Given the description of an element on the screen output the (x, y) to click on. 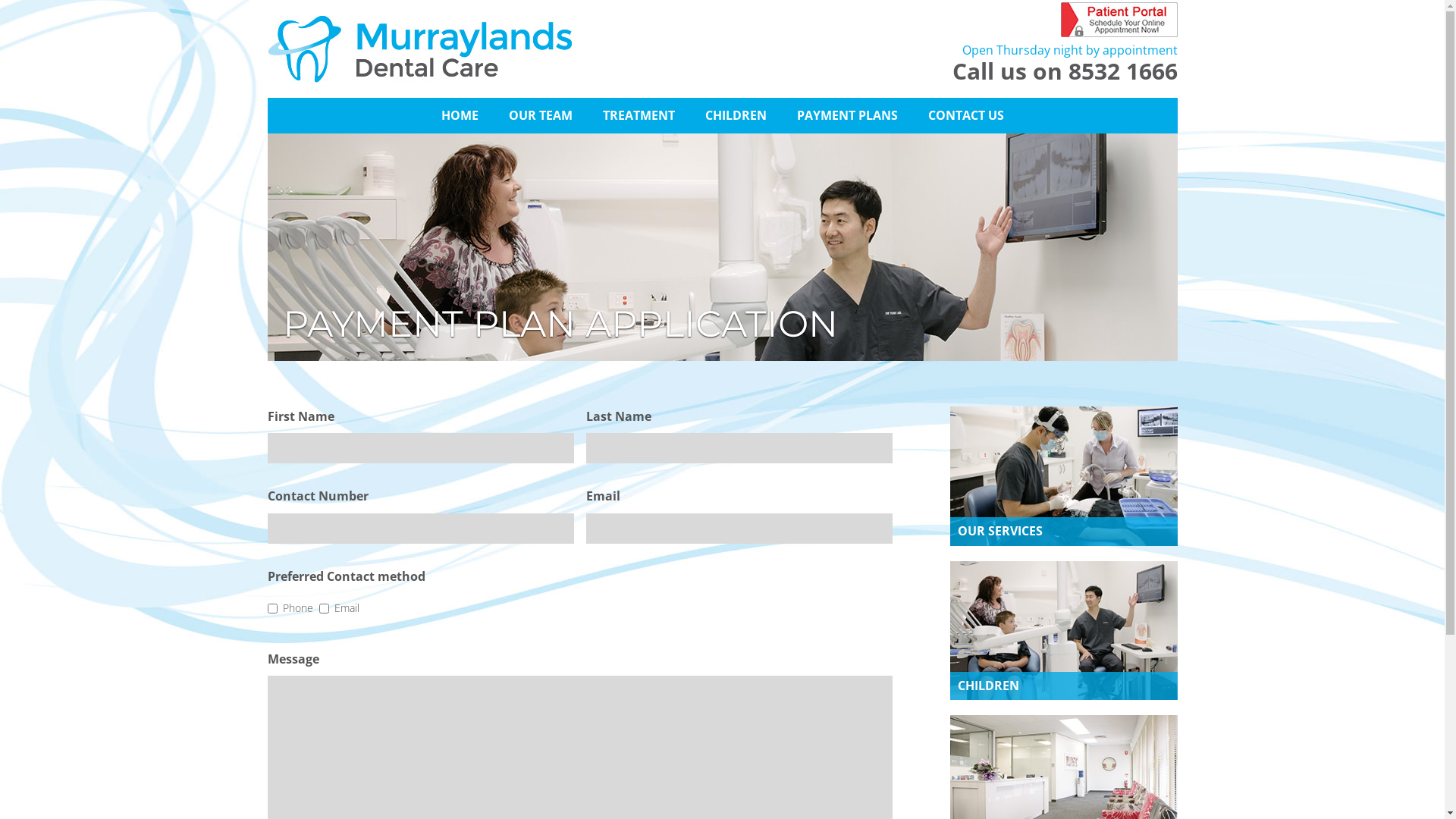
CHILDREN Element type: text (735, 115)
TREATMENT Element type: text (637, 115)
PAYMENT PLANS Element type: text (846, 115)
OUR SERVICES Element type: text (1062, 475)
OUR TEAM Element type: text (539, 115)
CHILDREN Element type: text (1062, 630)
HOME Element type: text (459, 115)
CONTACT US Element type: text (966, 115)
